Given the description of an element on the screen output the (x, y) to click on. 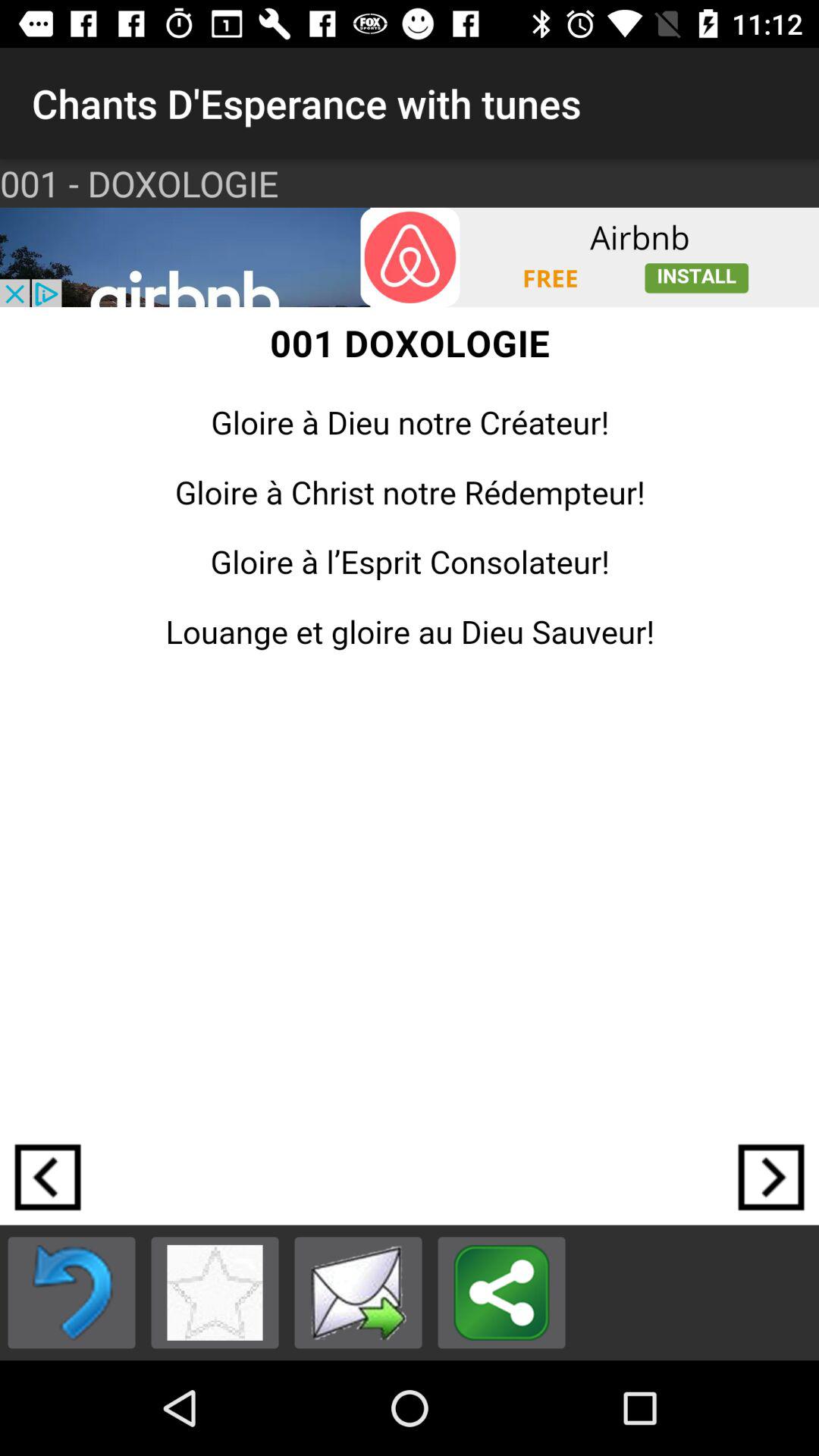
advert (409, 257)
